Given the description of an element on the screen output the (x, y) to click on. 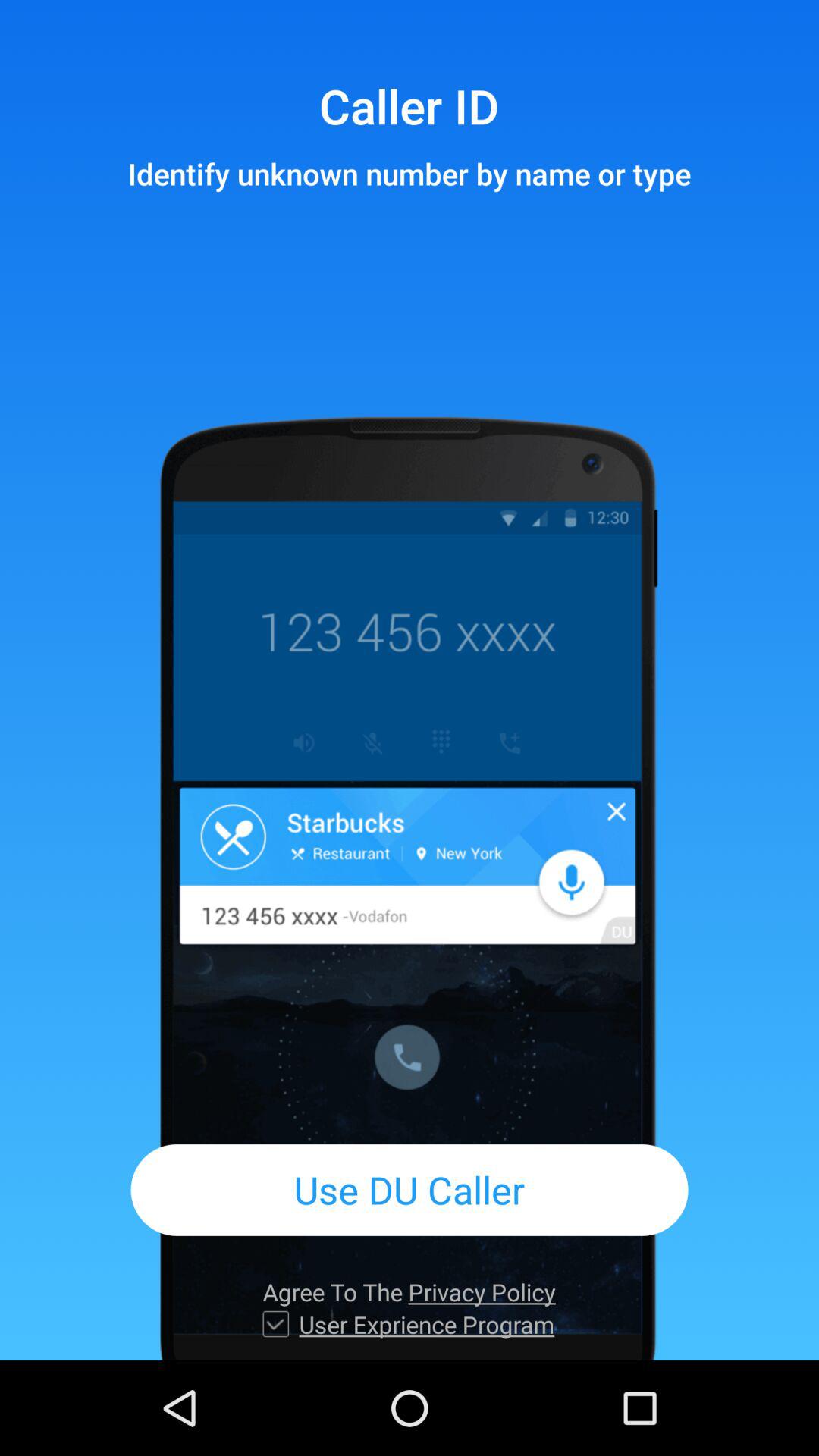
flip to the user exprience program (426, 1324)
